Given the description of an element on the screen output the (x, y) to click on. 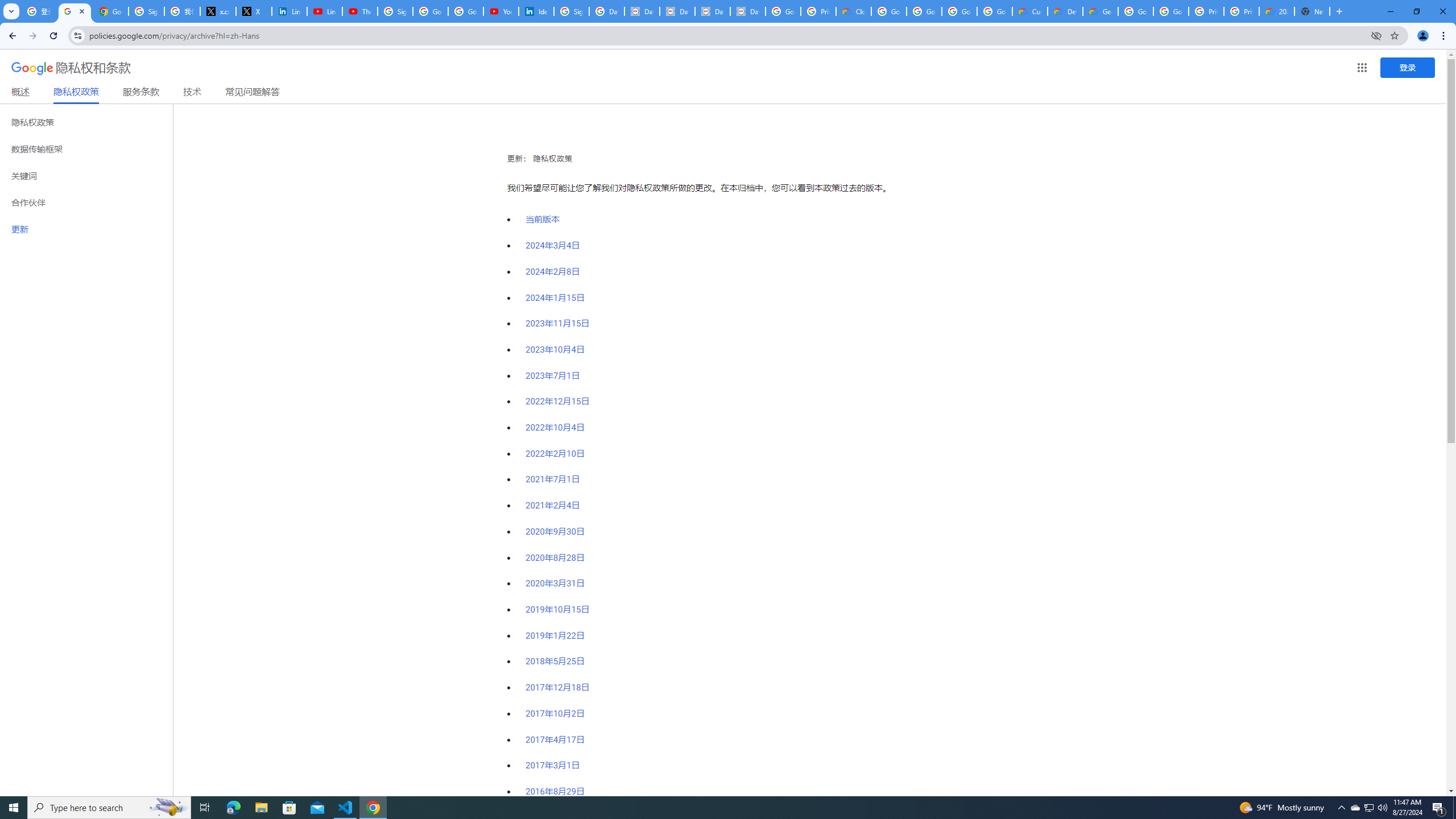
Data Privacy Framework (641, 11)
Google Cloud Platform (1135, 11)
